Given the description of an element on the screen output the (x, y) to click on. 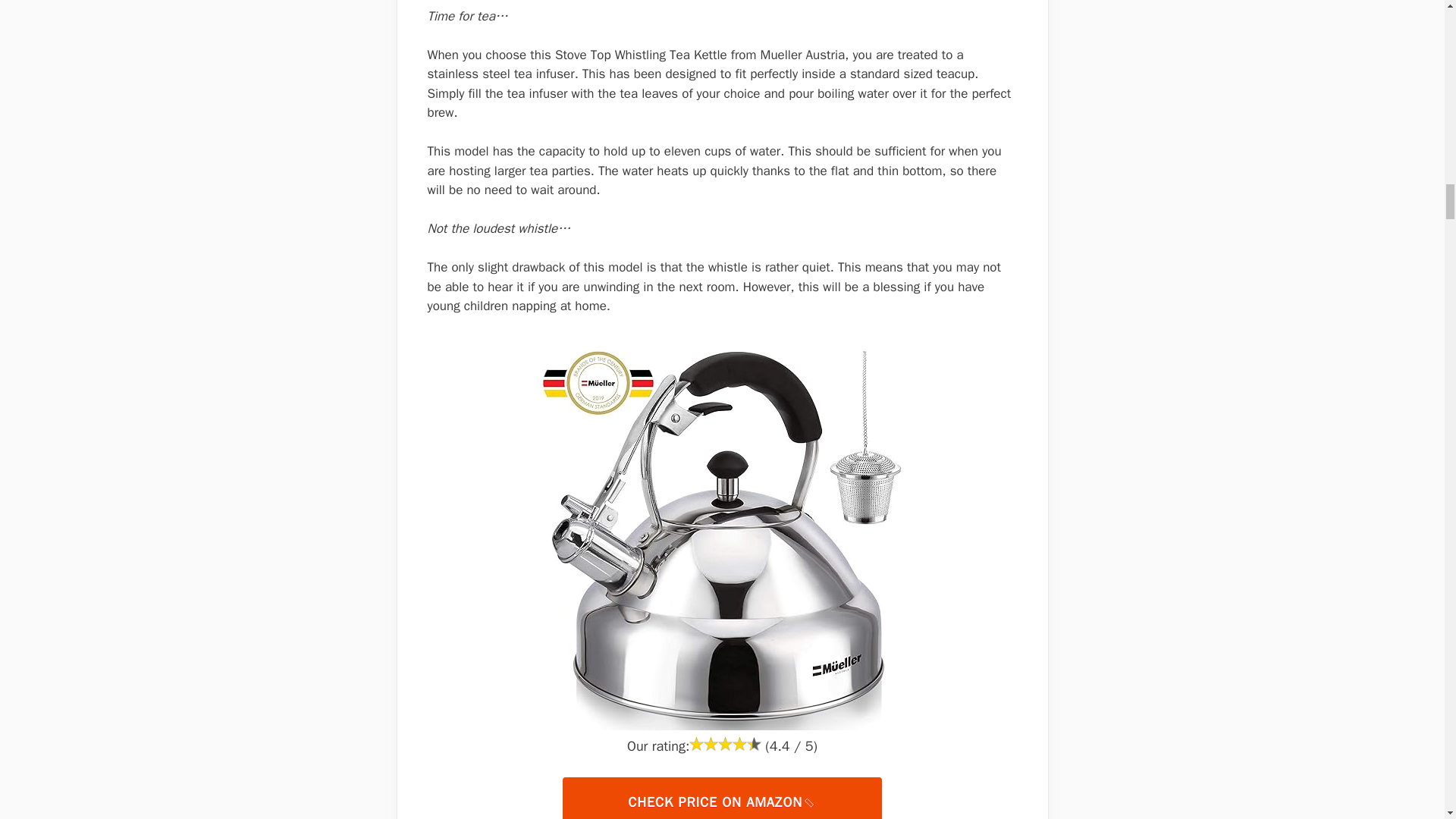
CHECK PRICE ON AMAZON (721, 798)
